Given the description of an element on the screen output the (x, y) to click on. 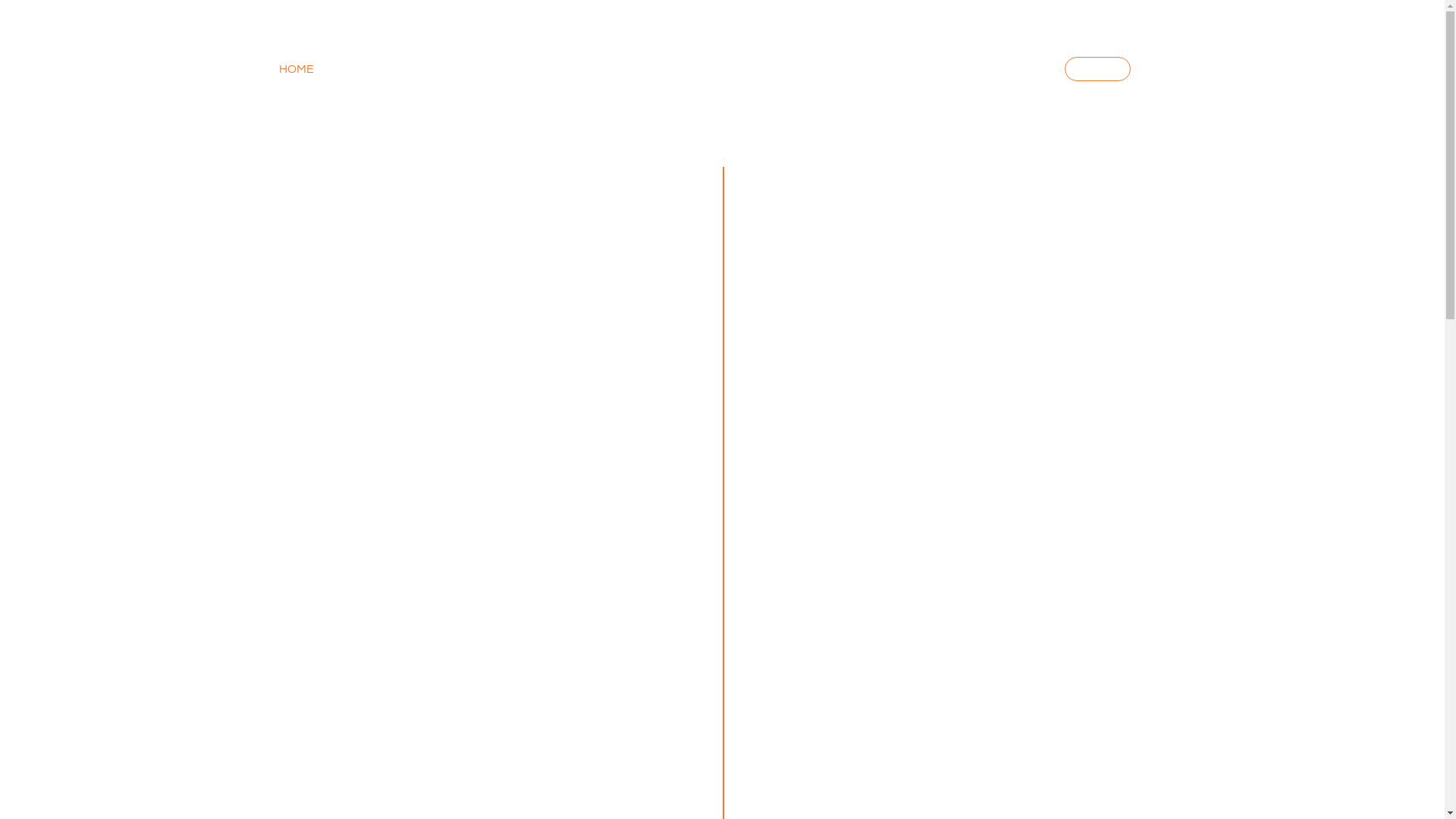
CONTACT Element type: text (1006, 68)
OVER ONS Element type: text (483, 68)
HOME Element type: text (296, 68)
ONS AANBOD Element type: text (383, 68)
ACTIES Element type: text (1097, 68)
